Given the description of an element on the screen output the (x, y) to click on. 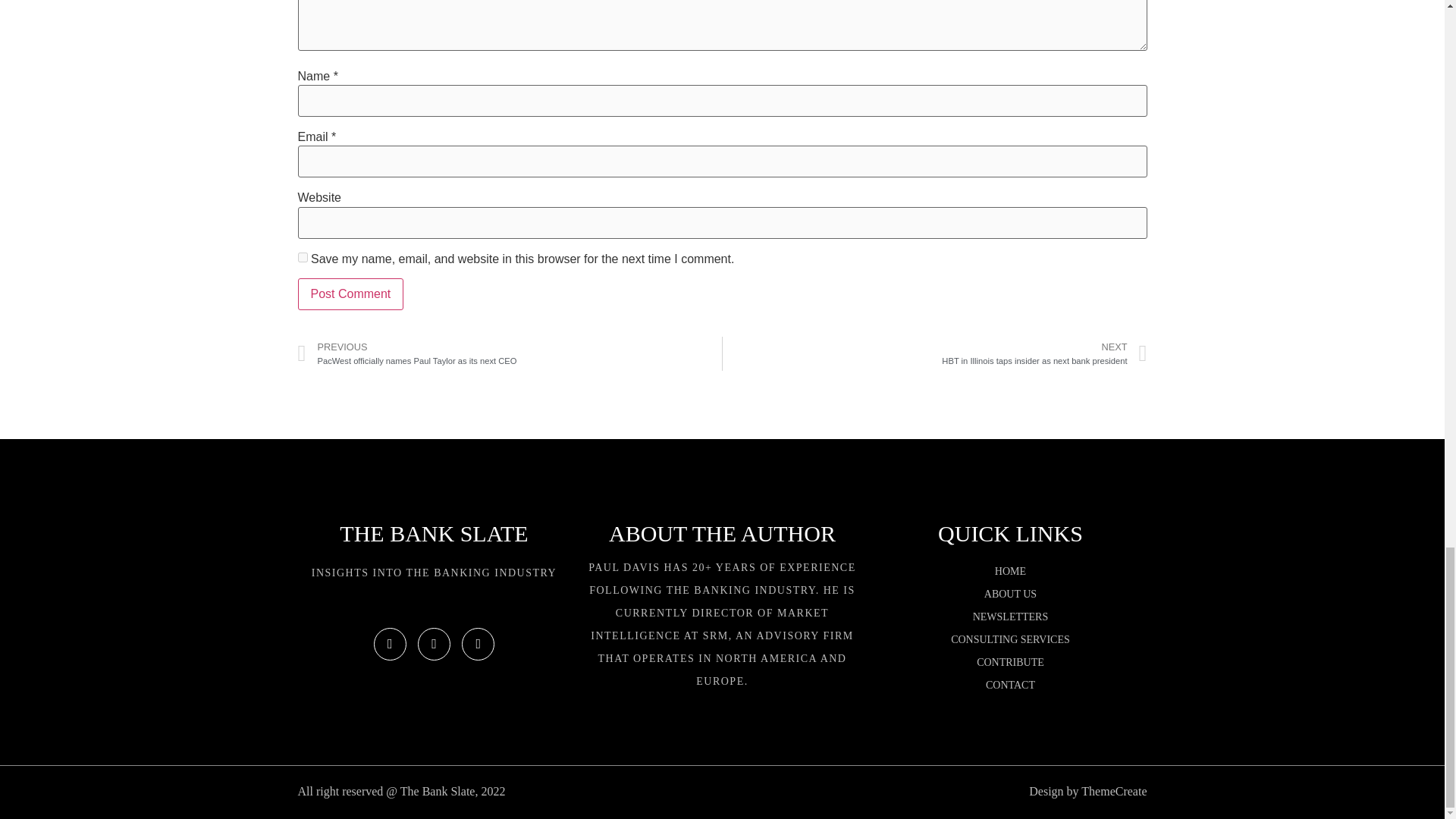
CONSULTING SERVICES (1044, 353)
NEWSLETTERS (1010, 639)
Post Comment (1010, 617)
ABOUT US (350, 294)
HOME (1010, 594)
yes (1010, 571)
CONTRIBUTE (302, 257)
CONTACT (1010, 662)
